Given the description of an element on the screen output the (x, y) to click on. 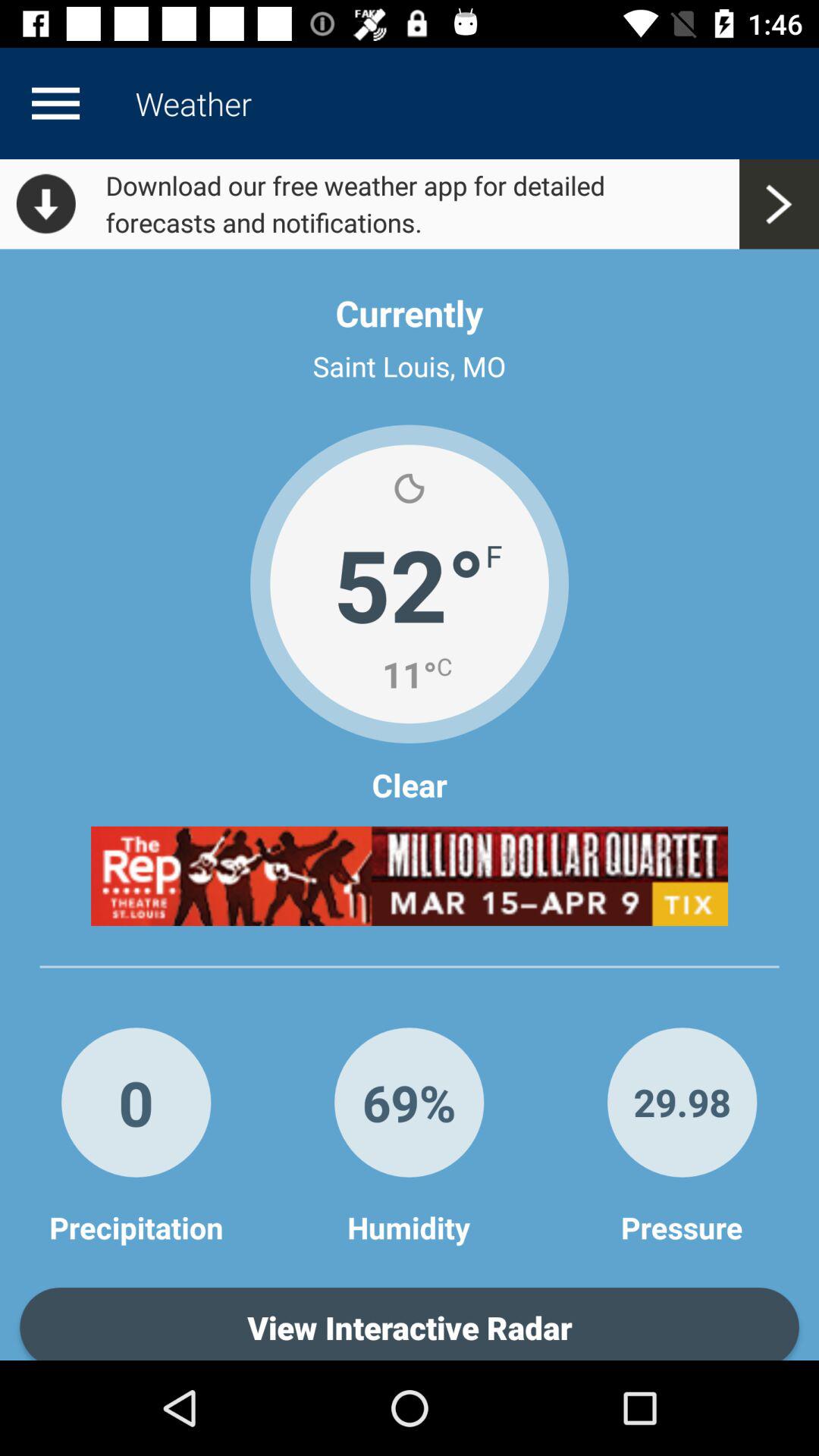
link to advertisement (409, 875)
